Given the description of an element on the screen output the (x, y) to click on. 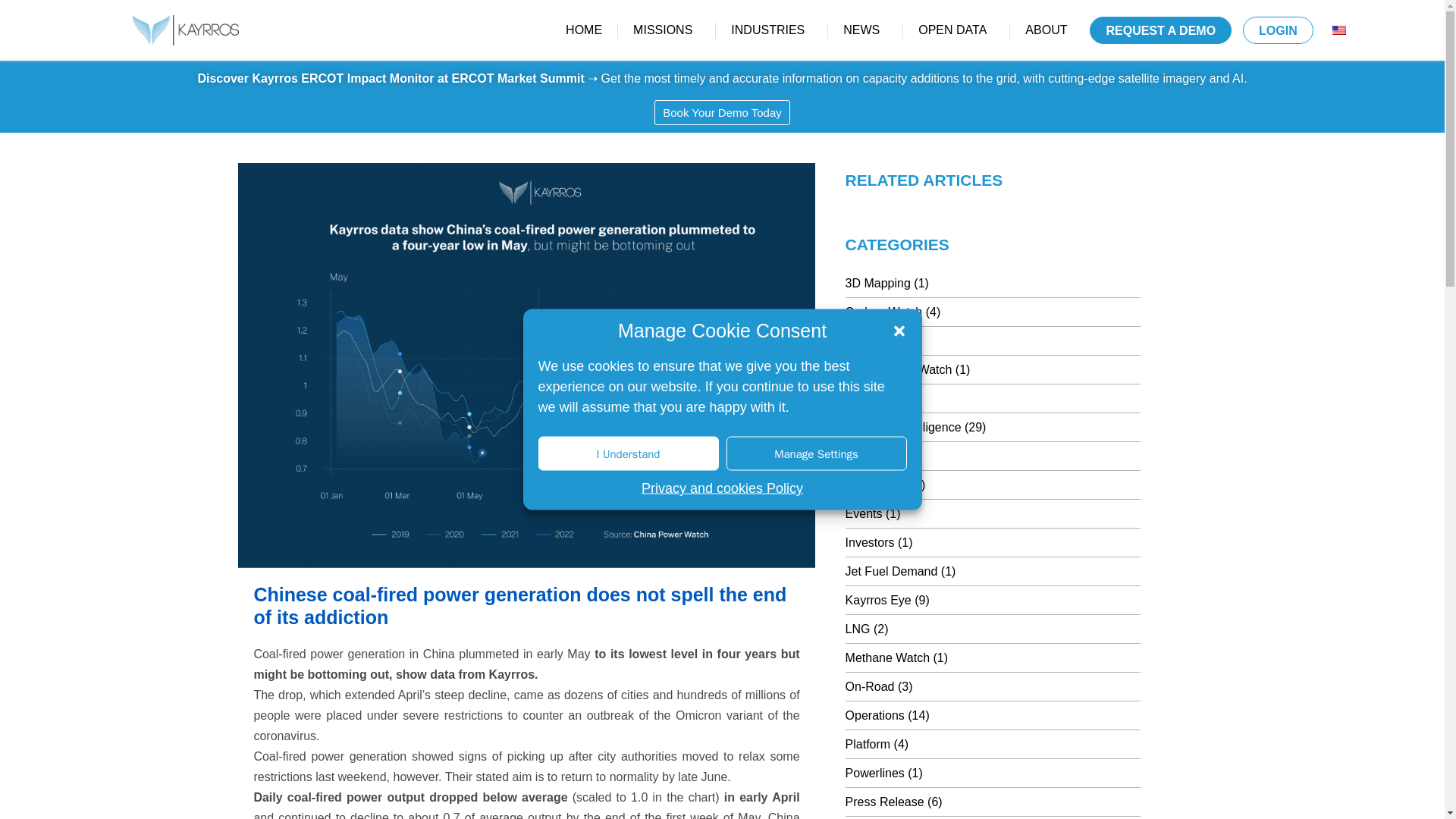
OPEN DATA (955, 29)
I Understand (628, 453)
INDUSTRIES (771, 29)
Manage Settings (816, 453)
MISSIONS (665, 29)
LOGIN (1278, 30)
English (1338, 30)
ABOUT (1049, 29)
NEWS (865, 29)
Privacy and cookies Policy (722, 487)
